Given the description of an element on the screen output the (x, y) to click on. 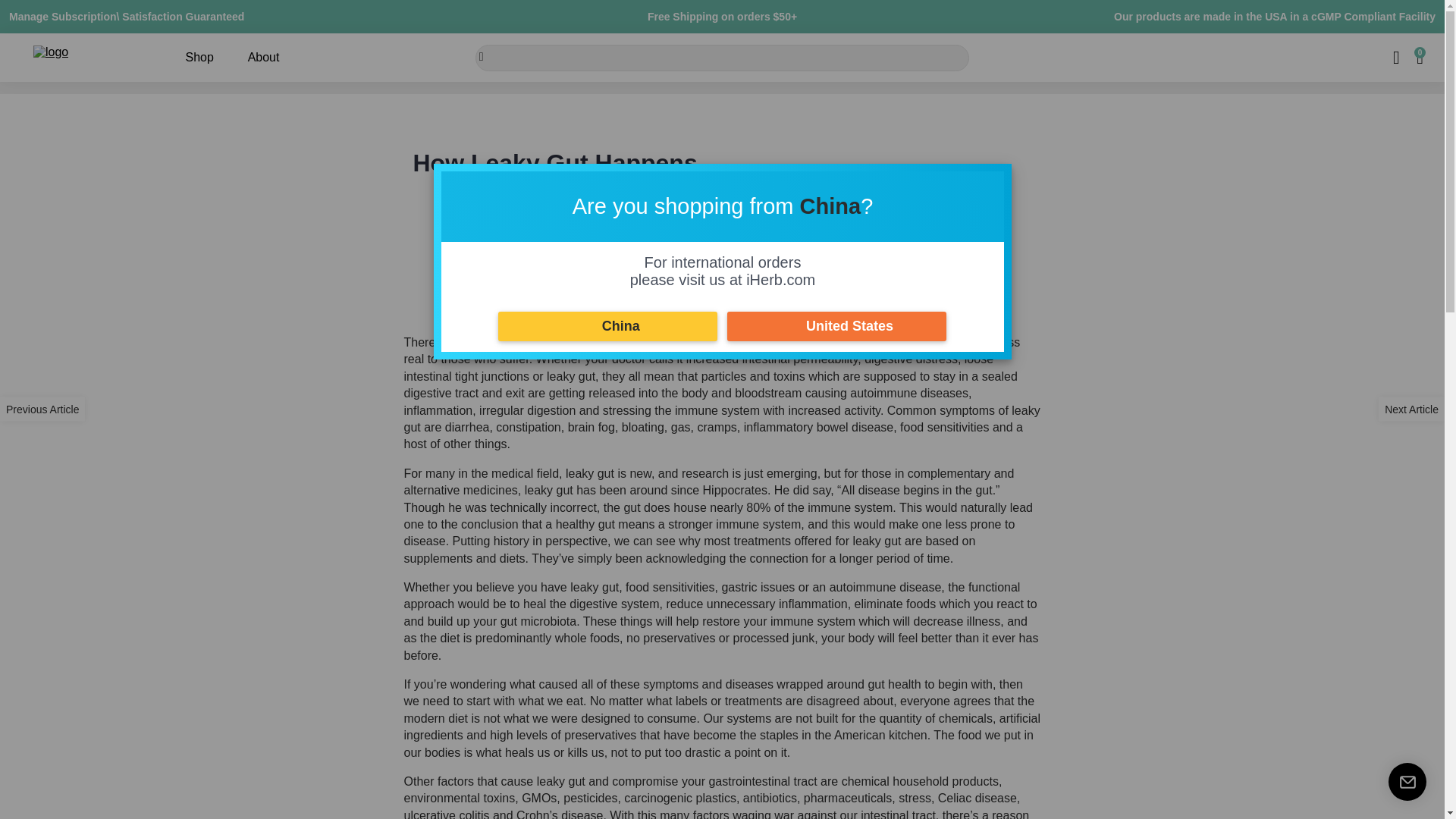
Manage Subscription (62, 16)
About (263, 57)
Shop (199, 57)
